Given the description of an element on the screen output the (x, y) to click on. 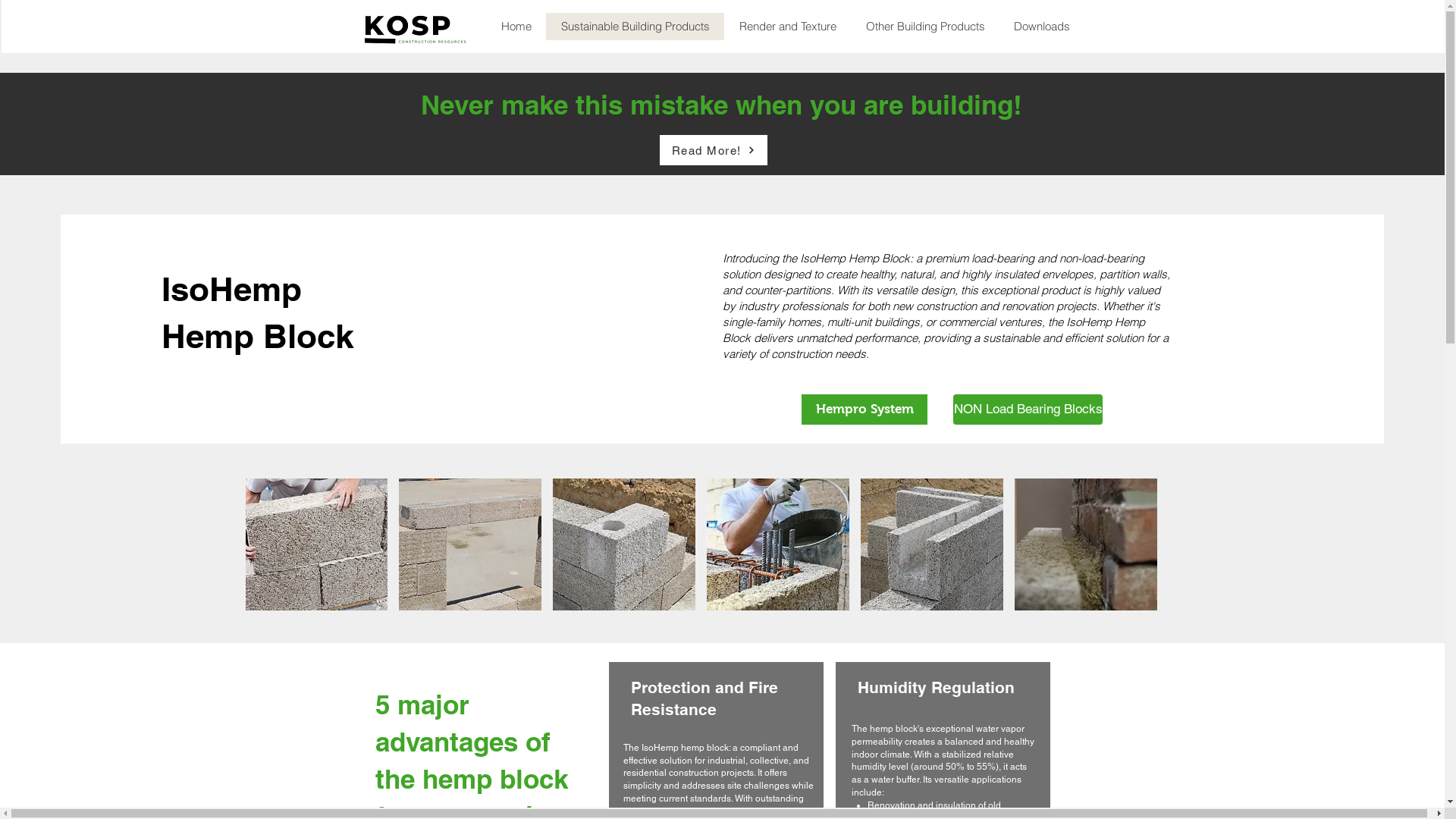
Render and Texture Element type: text (786, 26)
NON Load Bearing Blocks Element type: text (1027, 409)
Home Element type: text (516, 26)
Downloads Element type: text (1041, 26)
Sustainable Building Products Element type: text (635, 26)
kosp logo-PhotoRoom (1).png Element type: hover (415, 26)
Read More! Element type: text (713, 149)
Hempro System Element type: text (864, 409)
